Given the description of an element on the screen output the (x, y) to click on. 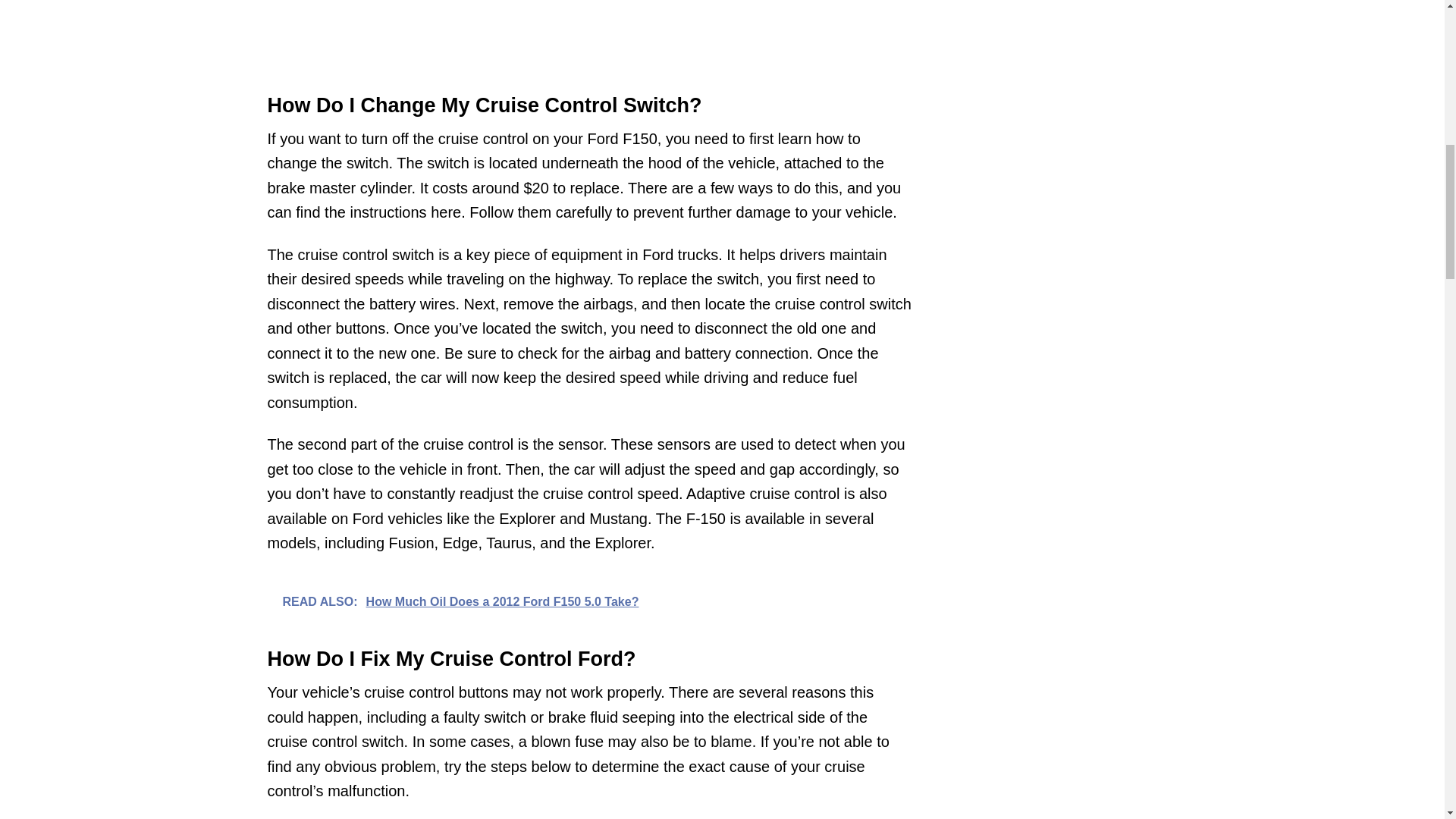
READ ALSO:  How Much Oil Does a 2012 Ford F150 5.0 Take? (588, 600)
